Given the description of an element on the screen output the (x, y) to click on. 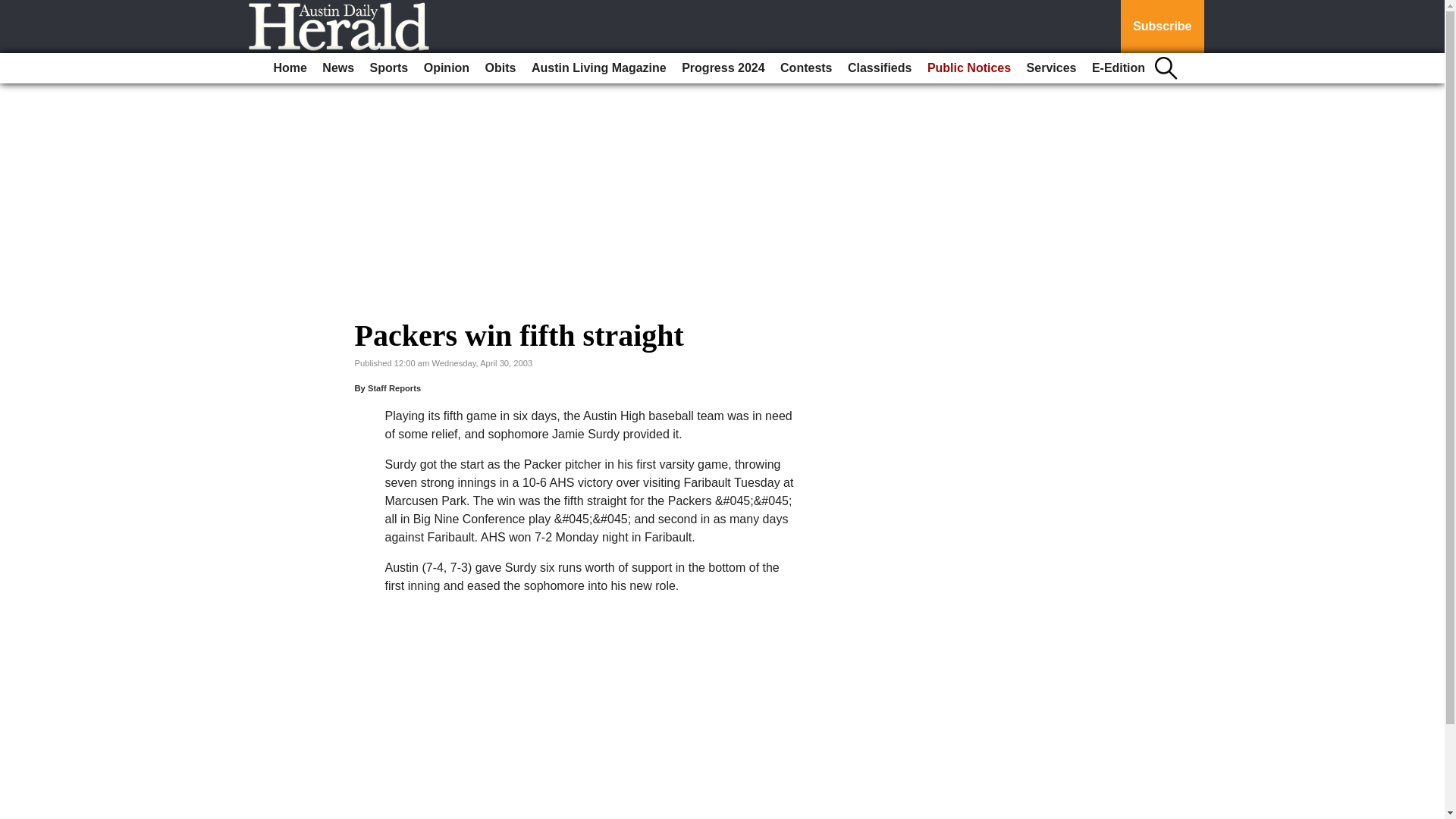
Subscribe (1162, 26)
Services (1051, 68)
Contests (806, 68)
Sports (389, 68)
Public Notices (968, 68)
Obits (500, 68)
Austin Living Magazine (598, 68)
Progress 2024 (722, 68)
Classifieds (879, 68)
News (337, 68)
